Given the description of an element on the screen output the (x, y) to click on. 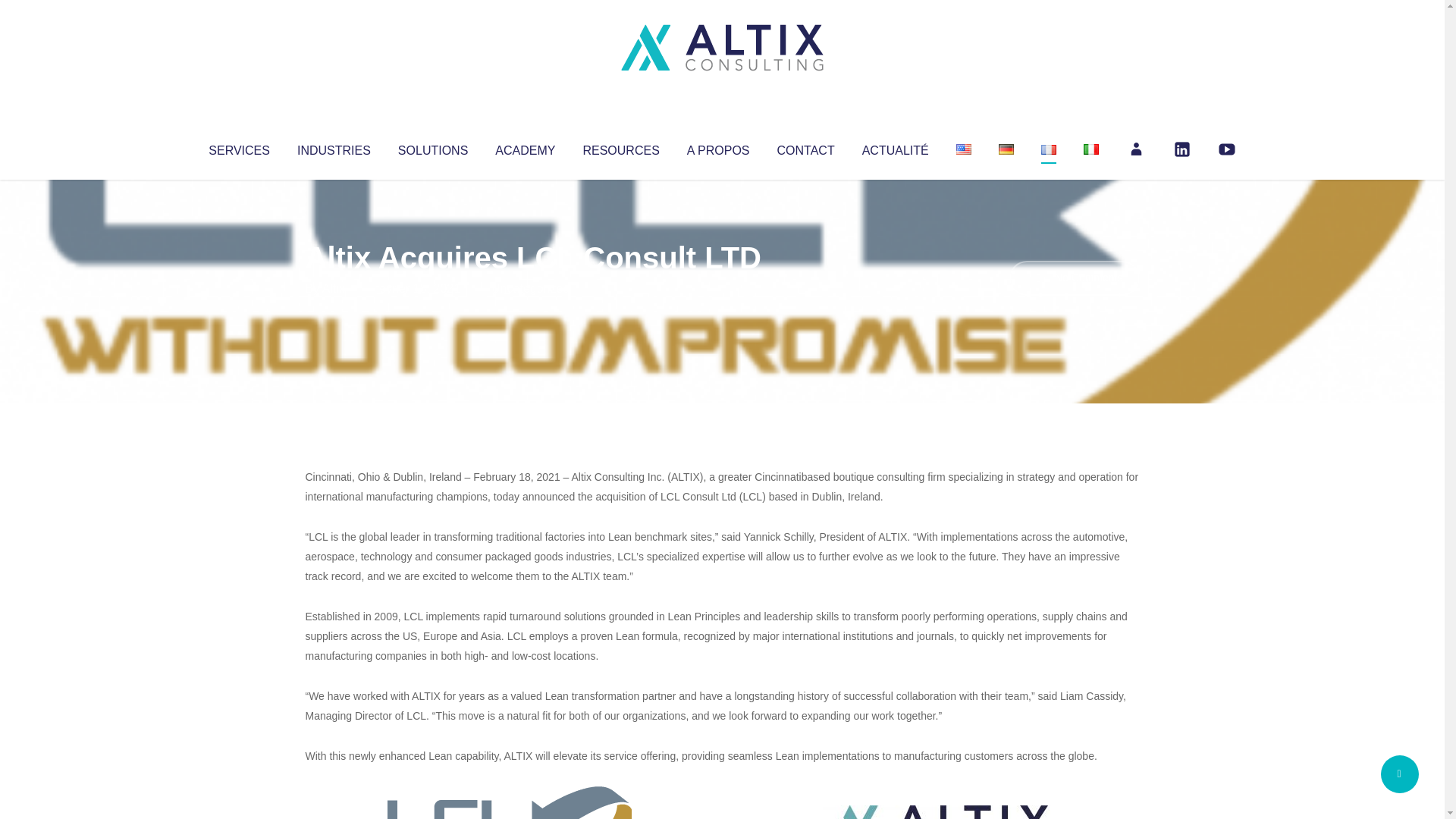
A PROPOS (718, 146)
Altix (333, 287)
INDUSTRIES (334, 146)
No Comments (1073, 278)
SERVICES (238, 146)
ACADEMY (524, 146)
RESOURCES (620, 146)
Articles par Altix (333, 287)
SOLUTIONS (432, 146)
Uncategorized (530, 287)
